Given the description of an element on the screen output the (x, y) to click on. 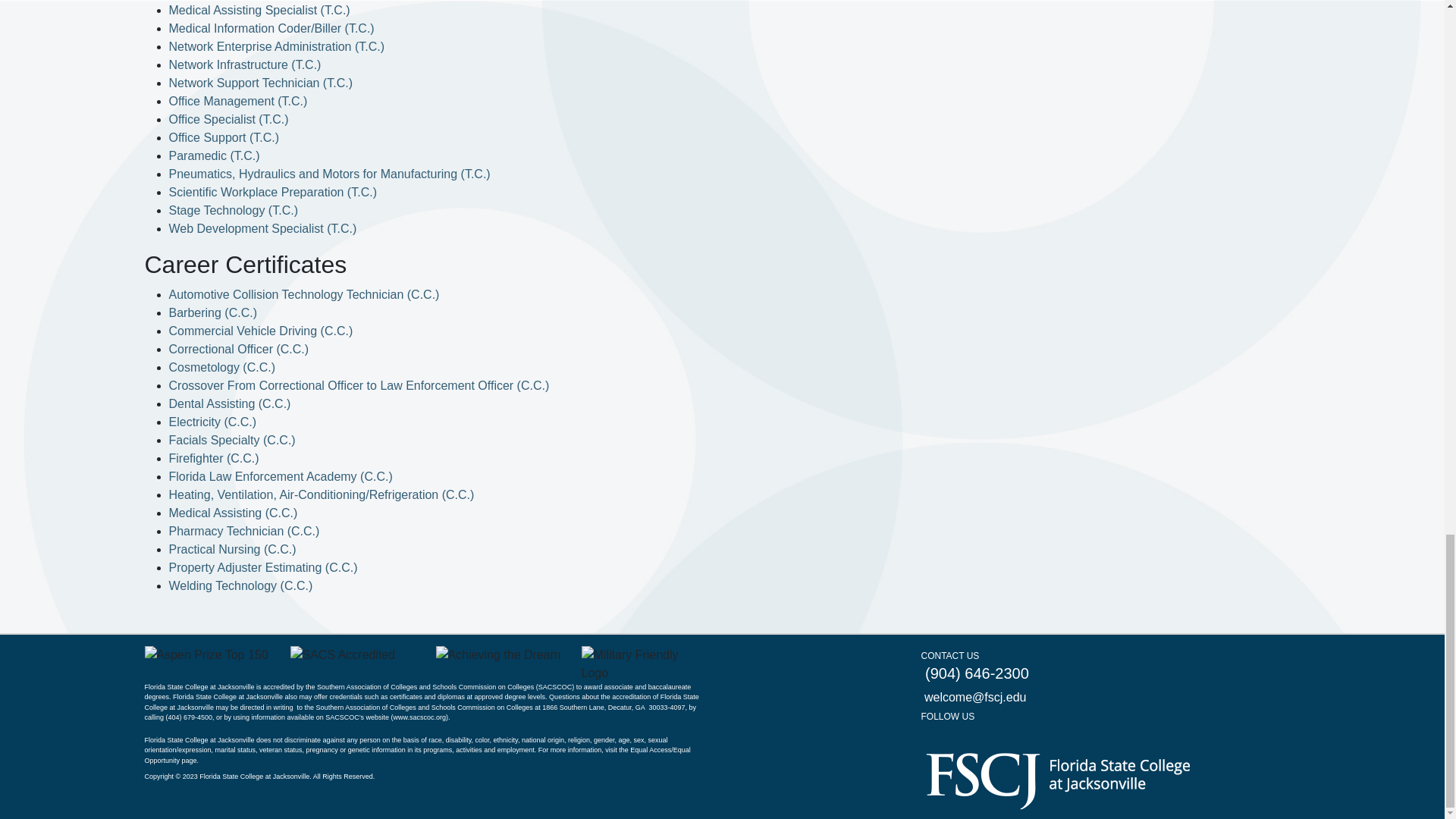
Achieving the Dream (497, 655)
Aspen Prize Top 150 (205, 655)
SACS Accredited (341, 655)
